Given the description of an element on the screen output the (x, y) to click on. 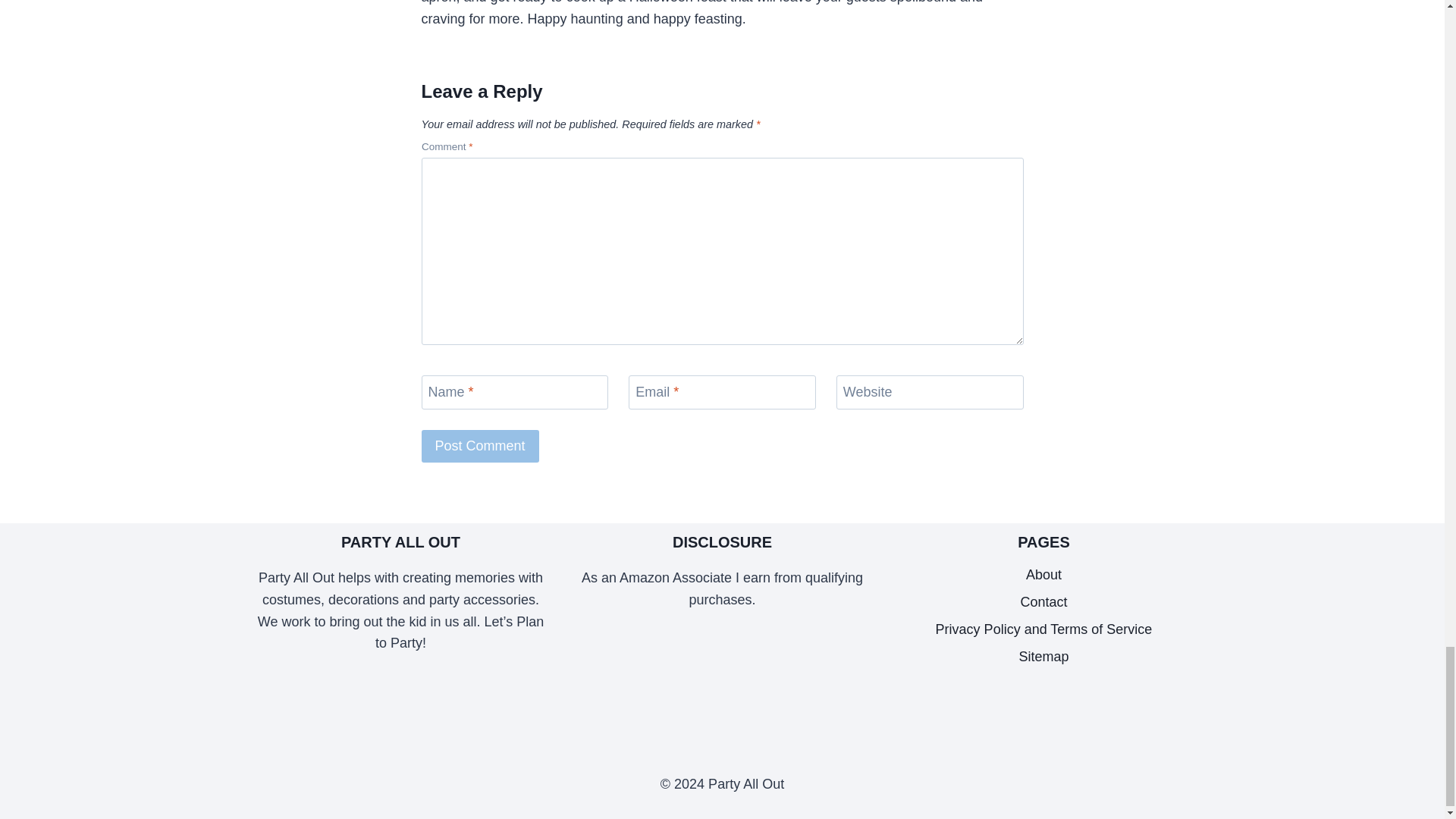
Privacy Policy and Terms of Service (1044, 628)
Post Comment (480, 445)
About (1044, 574)
Contact (1044, 601)
Post Comment (480, 445)
Sitemap (1044, 656)
